Given the description of an element on the screen output the (x, y) to click on. 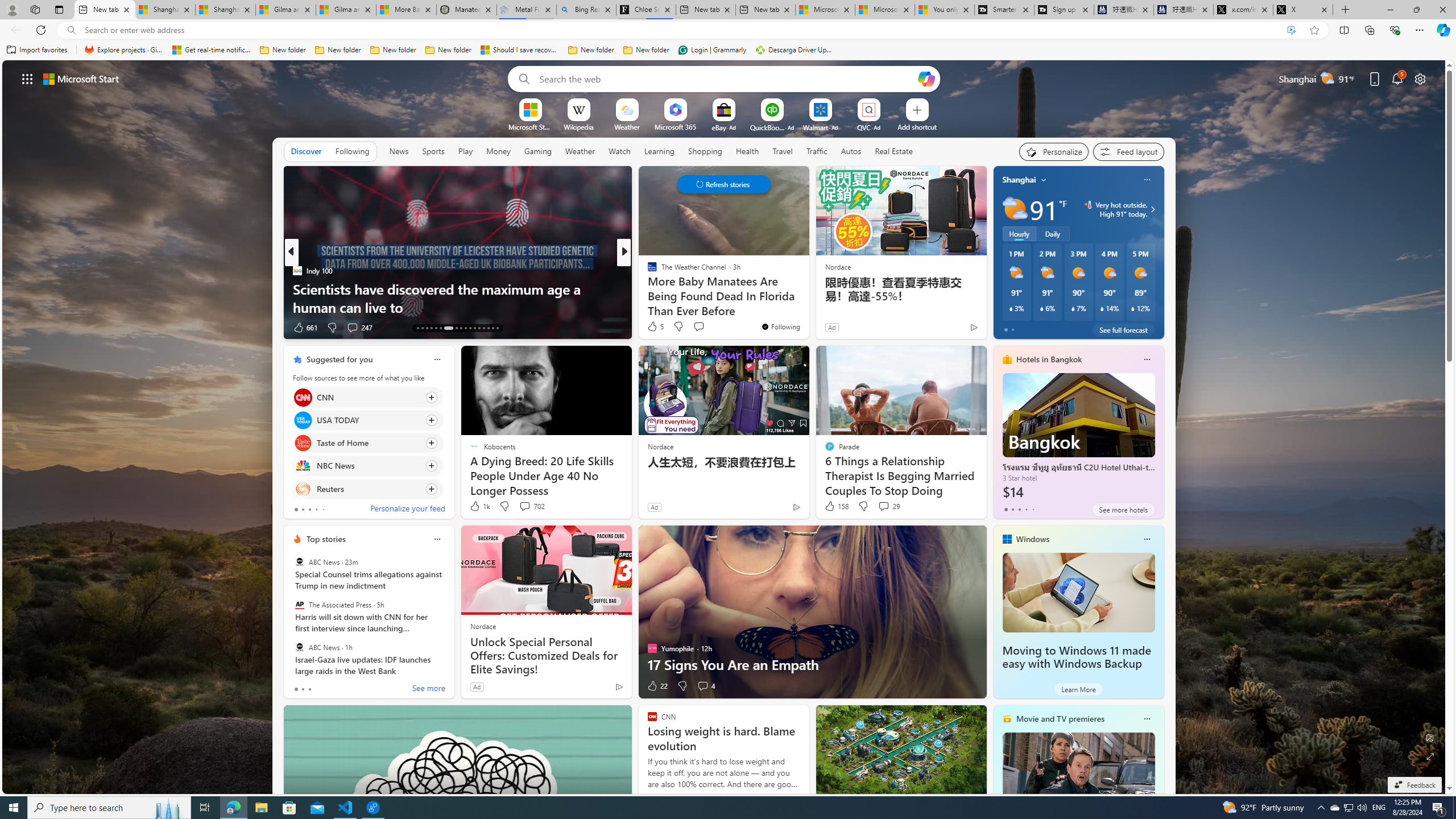
Search icon (70, 29)
AutomationID: tab-16 (431, 328)
tab-2 (309, 689)
Don't Use an Ordinary Backpack (807, 307)
Hotels in Bangkok (1048, 359)
Smarter Living | T3 (1004, 9)
Bing Real Estate - Home sales and rental listings (586, 9)
146 Like (654, 327)
Learning (658, 151)
1k Like (478, 505)
